Given the description of an element on the screen output the (x, y) to click on. 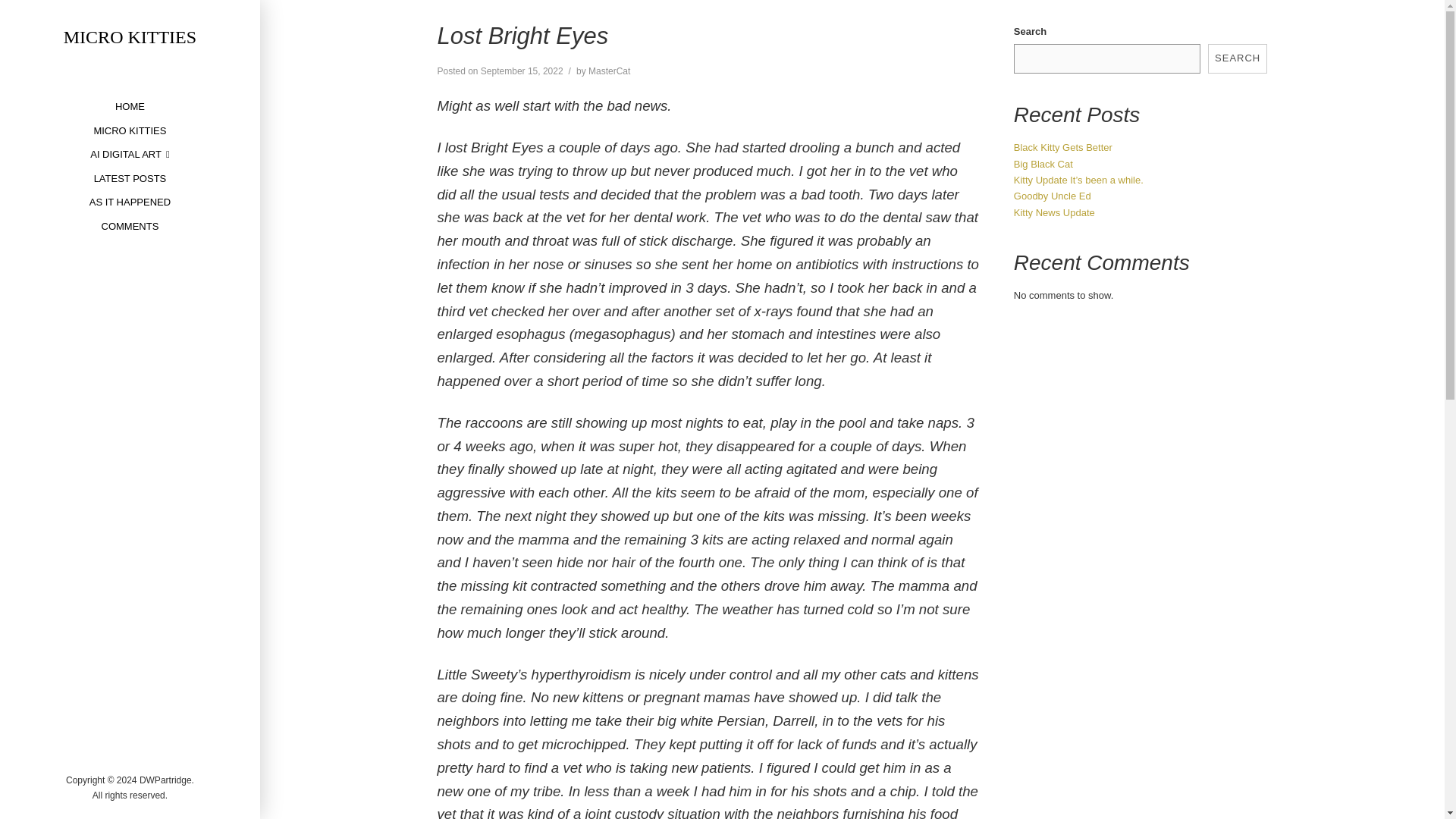
MICRO KITTIES (130, 36)
HOME (129, 106)
AS IT HAPPENED (130, 201)
September 15, 2022 (521, 71)
COMMENTS (130, 226)
LATEST POSTS (129, 178)
MICRO KITTIES (129, 130)
AI DIGITAL ART (129, 154)
